Given the description of an element on the screen output the (x, y) to click on. 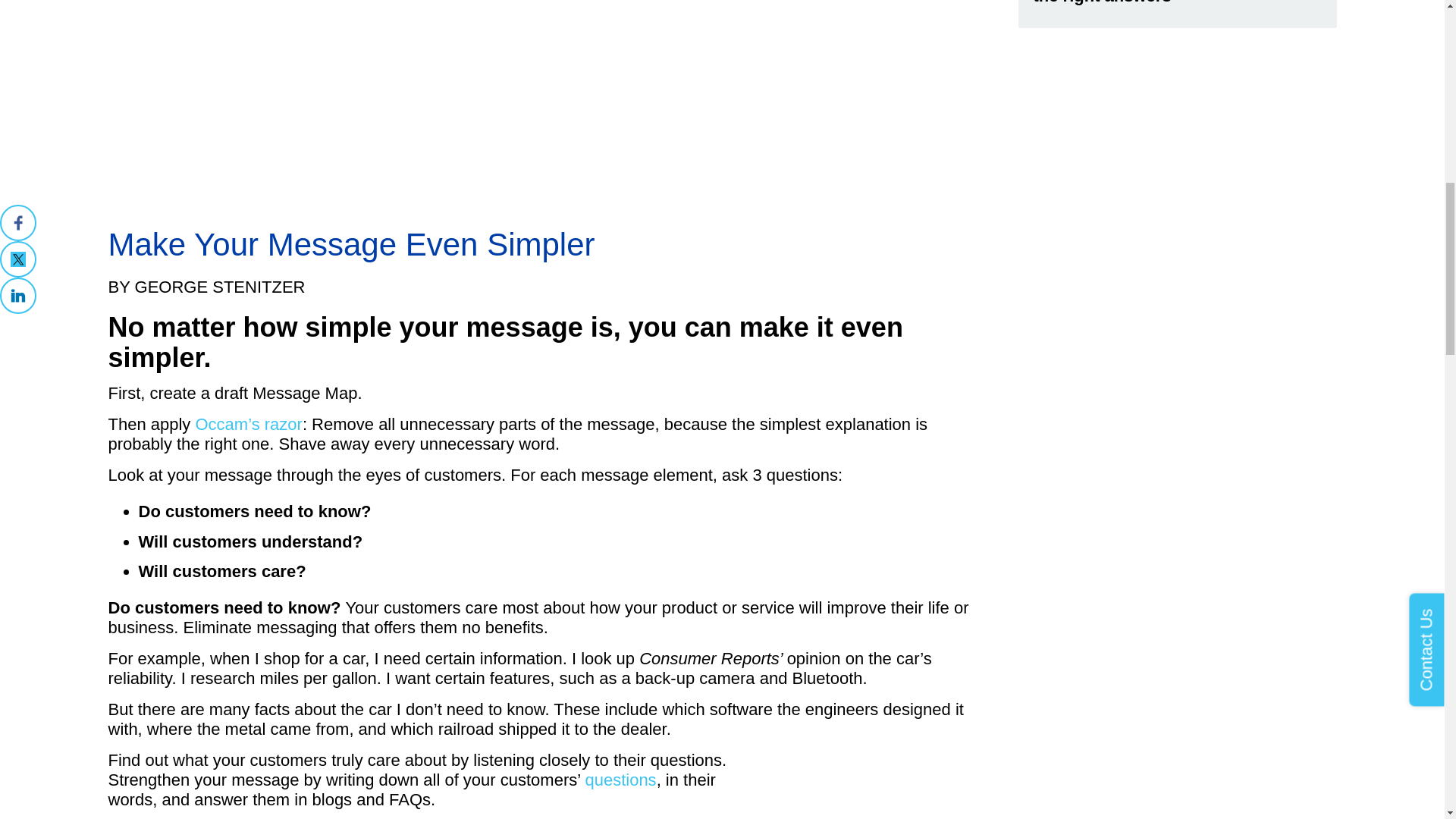
questions (620, 779)
